Given the description of an element on the screen output the (x, y) to click on. 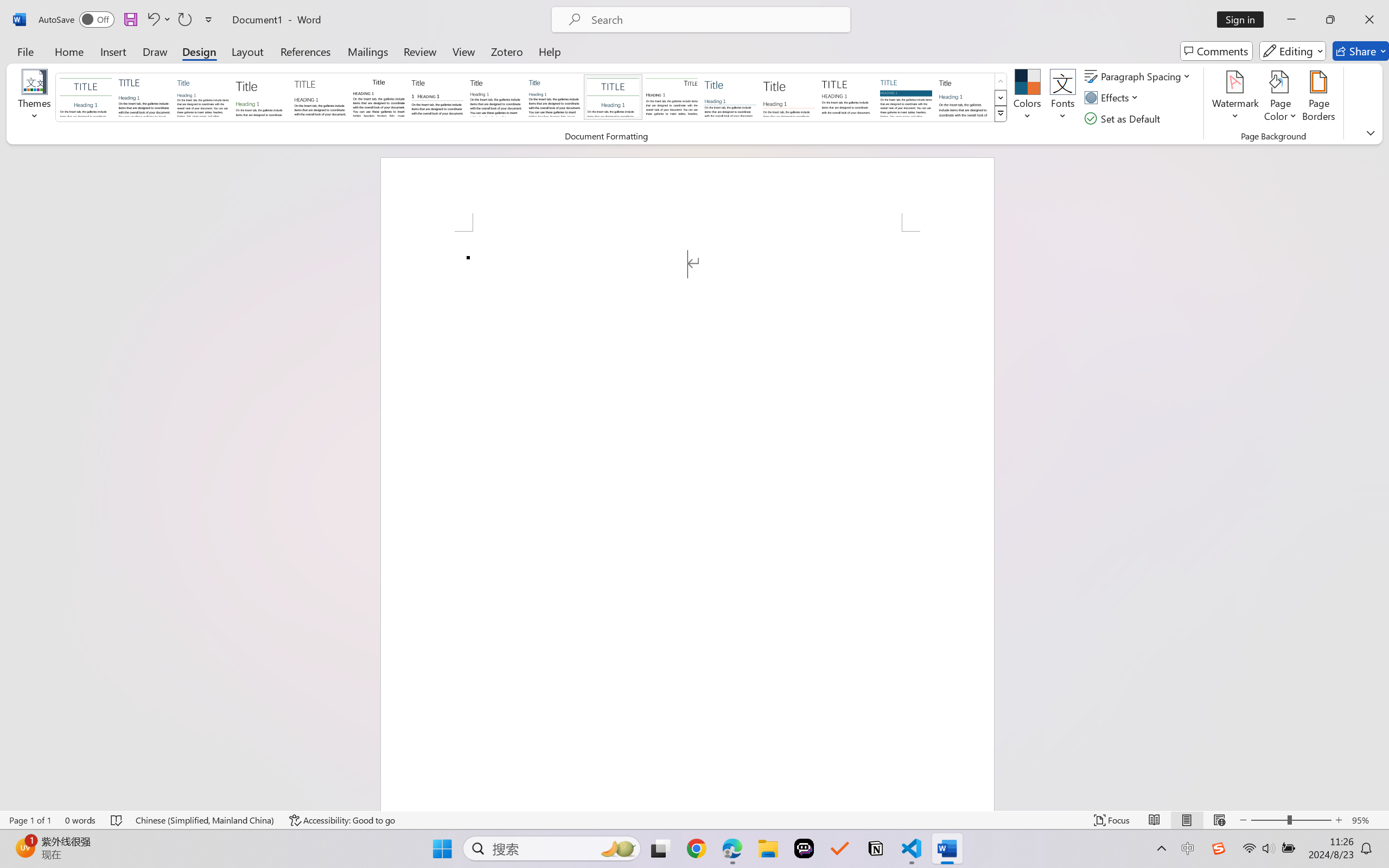
Black & White (Word 2013) (495, 96)
Language Chinese (Simplified, Mainland China) (205, 819)
Effects (1113, 97)
Lines (Simple) (730, 96)
Themes (34, 97)
